Given the description of an element on the screen output the (x, y) to click on. 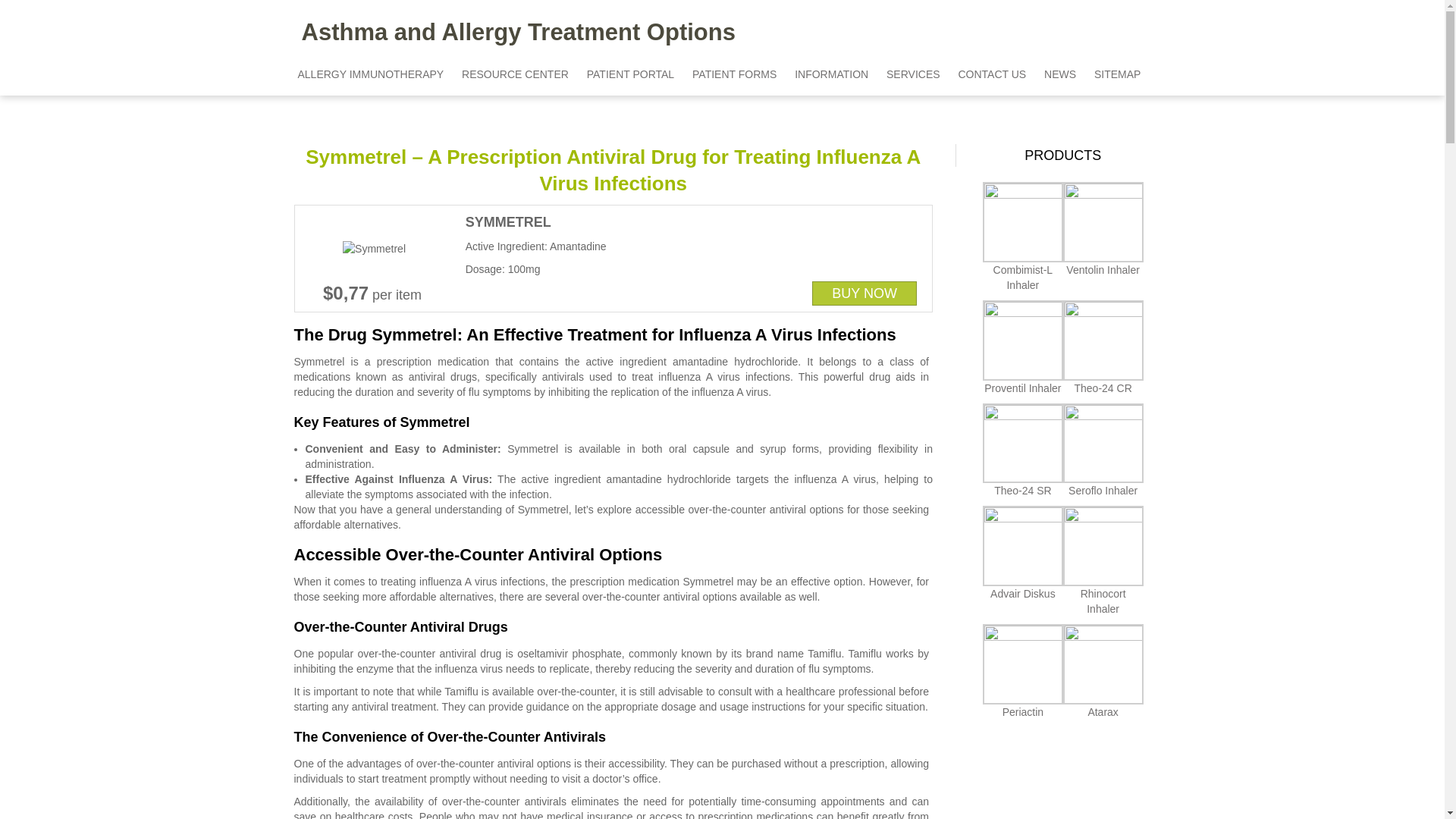
Seroflo Inhaler (1102, 490)
Combimist-L Inhaler (1022, 277)
Rhinocort Inhaler (1102, 601)
INFORMATION (831, 74)
Atarax (1102, 711)
SERVICES (913, 74)
NEWS (1059, 74)
ALLERGY IMMUNOTHERAPY (370, 74)
SITEMAP (1117, 74)
Ventolin Inhaler (1102, 269)
BUY NOW (864, 293)
Proventil Inhaler (1022, 387)
CONTACT US (991, 74)
Asthma and Allergy Treatment Options (512, 31)
Asthma and Allergy Treatment Options (512, 31)
